Given the description of an element on the screen output the (x, y) to click on. 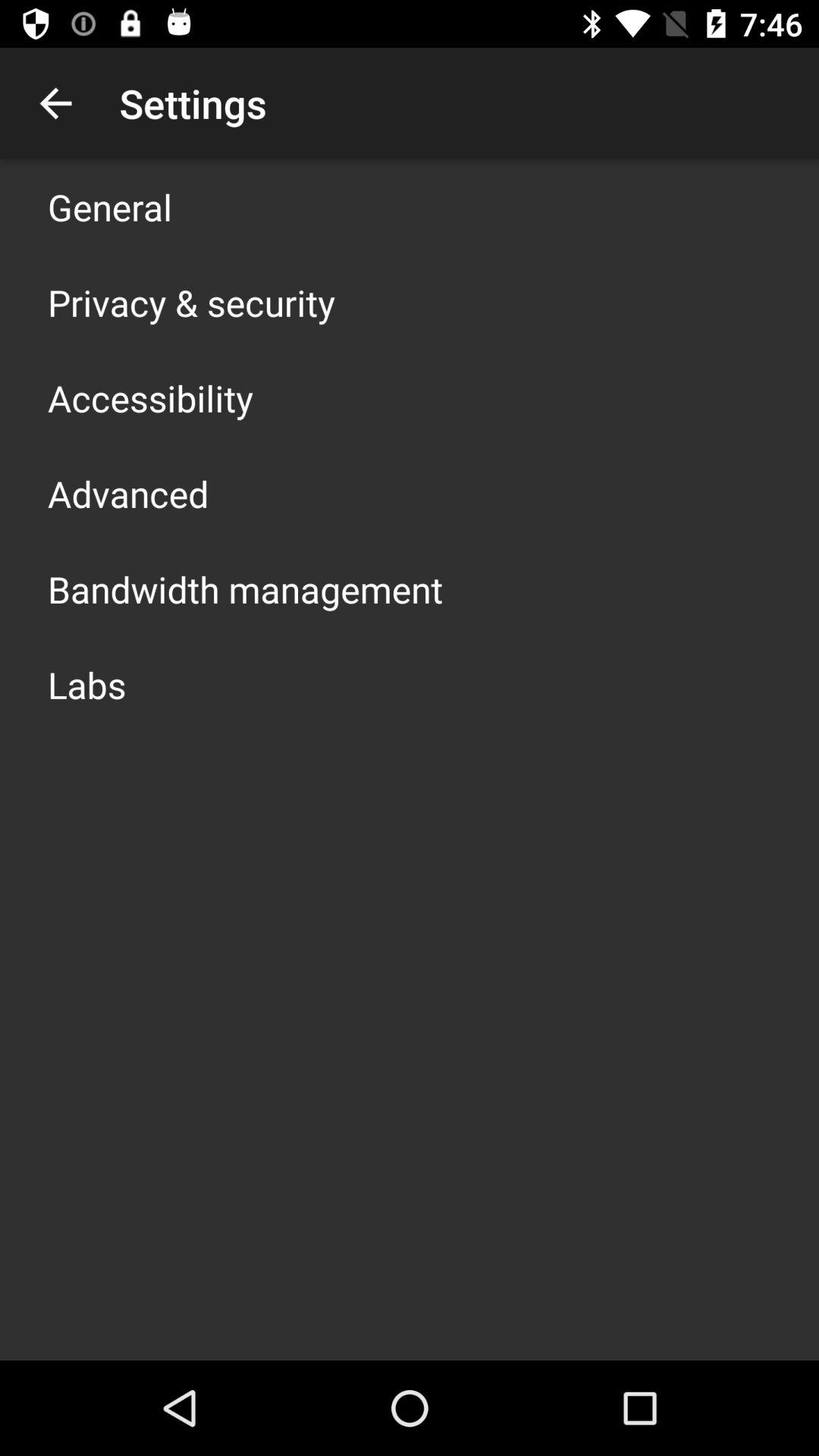
jump until the labs item (86, 684)
